Given the description of an element on the screen output the (x, y) to click on. 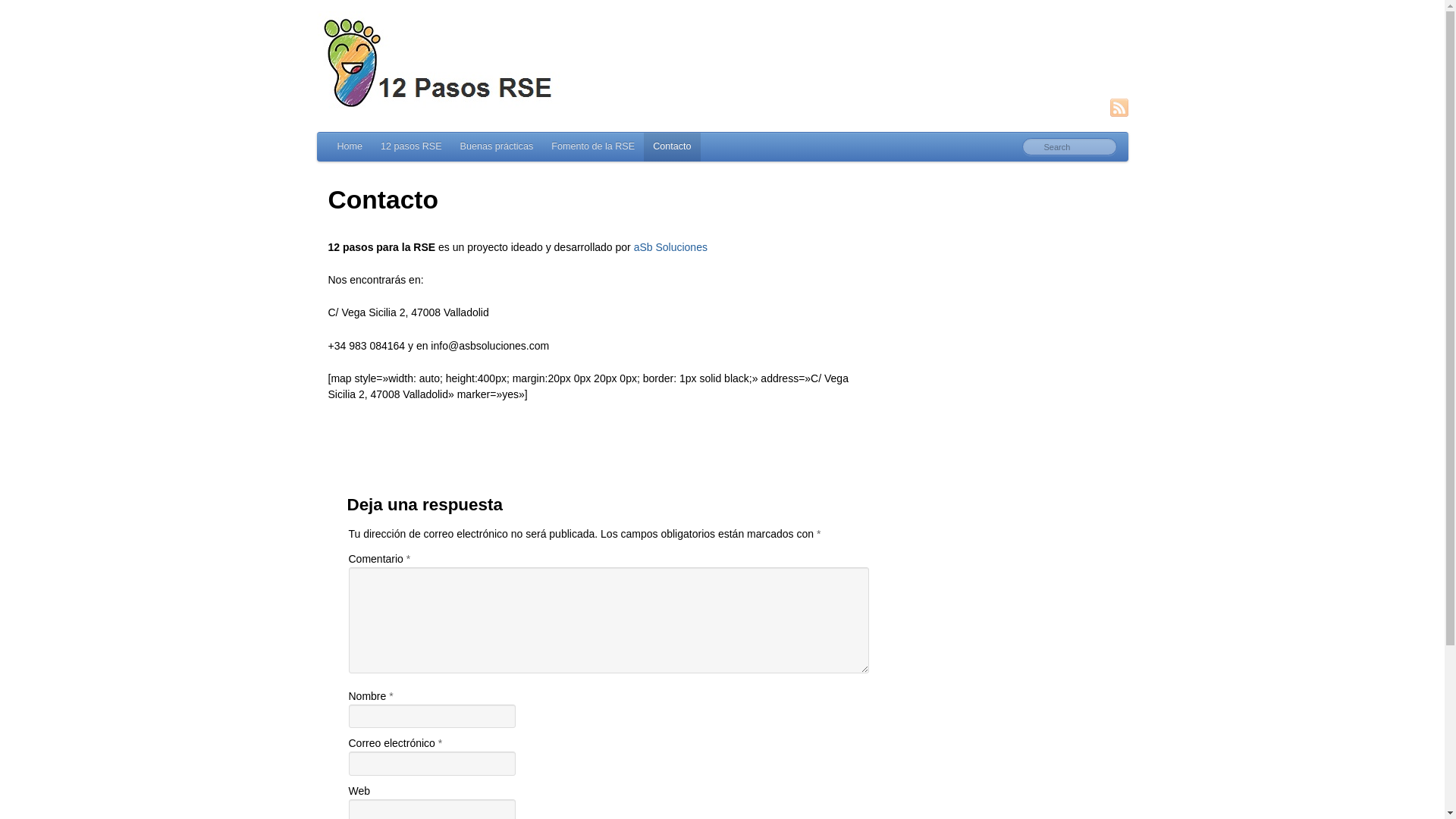
Contacto Element type: text (671, 146)
aSb Soluciones Element type: text (670, 247)
Home Element type: text (349, 146)
Fomento de la RSE Element type: text (592, 146)
12 pasos RSE Element type: hover (722, 63)
12 pasos RSE Element type: text (411, 146)
